Given the description of an element on the screen output the (x, y) to click on. 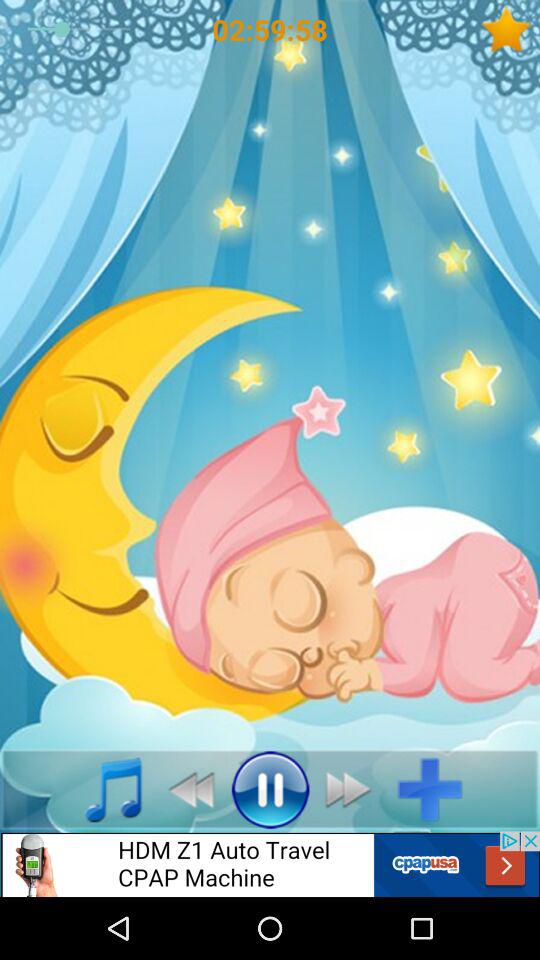
go to advertisement (270, 864)
